Given the description of an element on the screen output the (x, y) to click on. 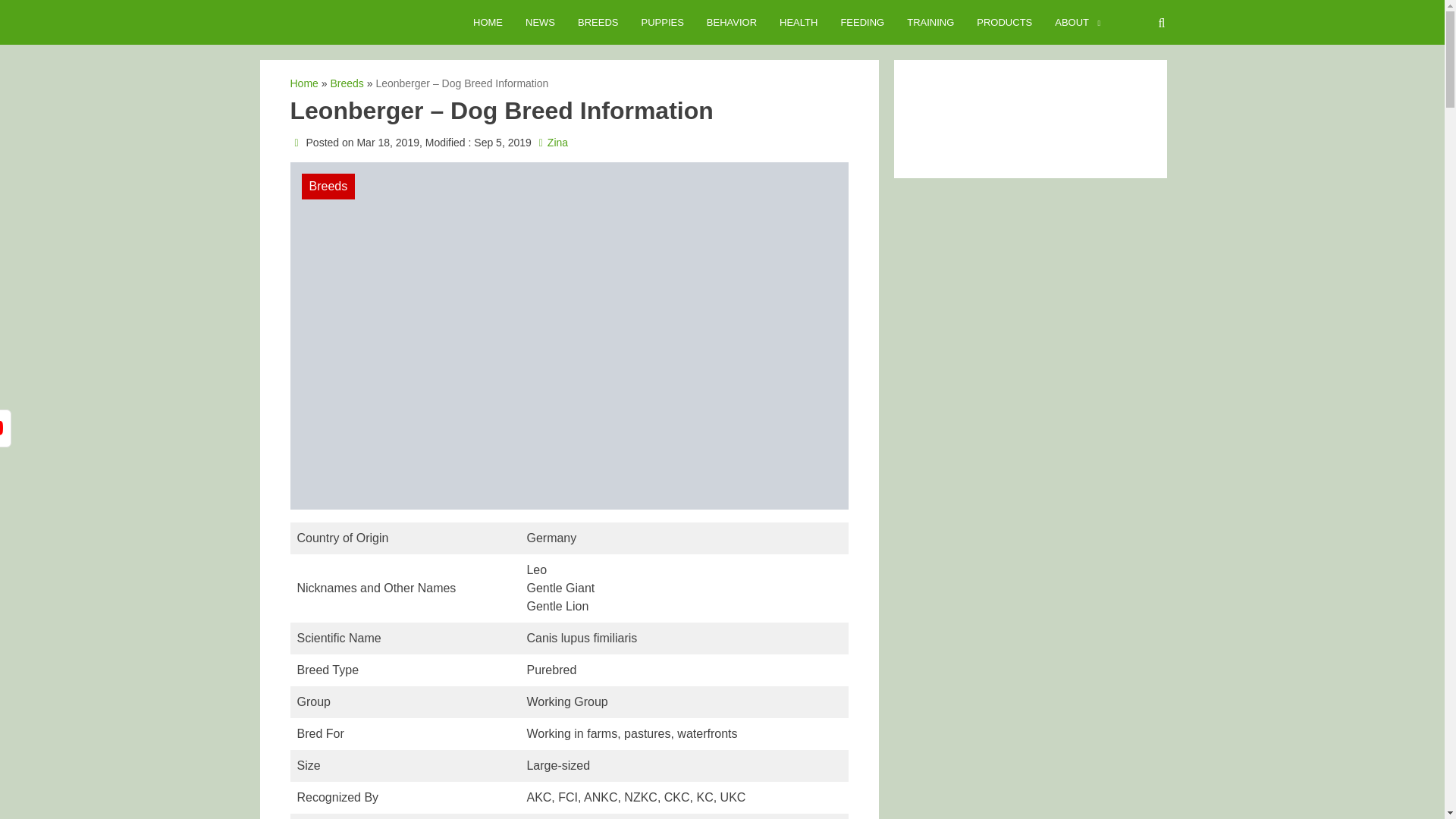
PRODUCTS (1004, 22)
HOME (487, 22)
Breeds (346, 82)
TRAINING (930, 22)
HEALTH (798, 22)
FEEDING (861, 22)
NEWS (539, 22)
BREEDS (597, 22)
ABOUT (1071, 22)
Home (303, 82)
BEHAVIOR (731, 22)
Zina (557, 142)
PUPPIES (661, 22)
Zina (557, 142)
